Given the description of an element on the screen output the (x, y) to click on. 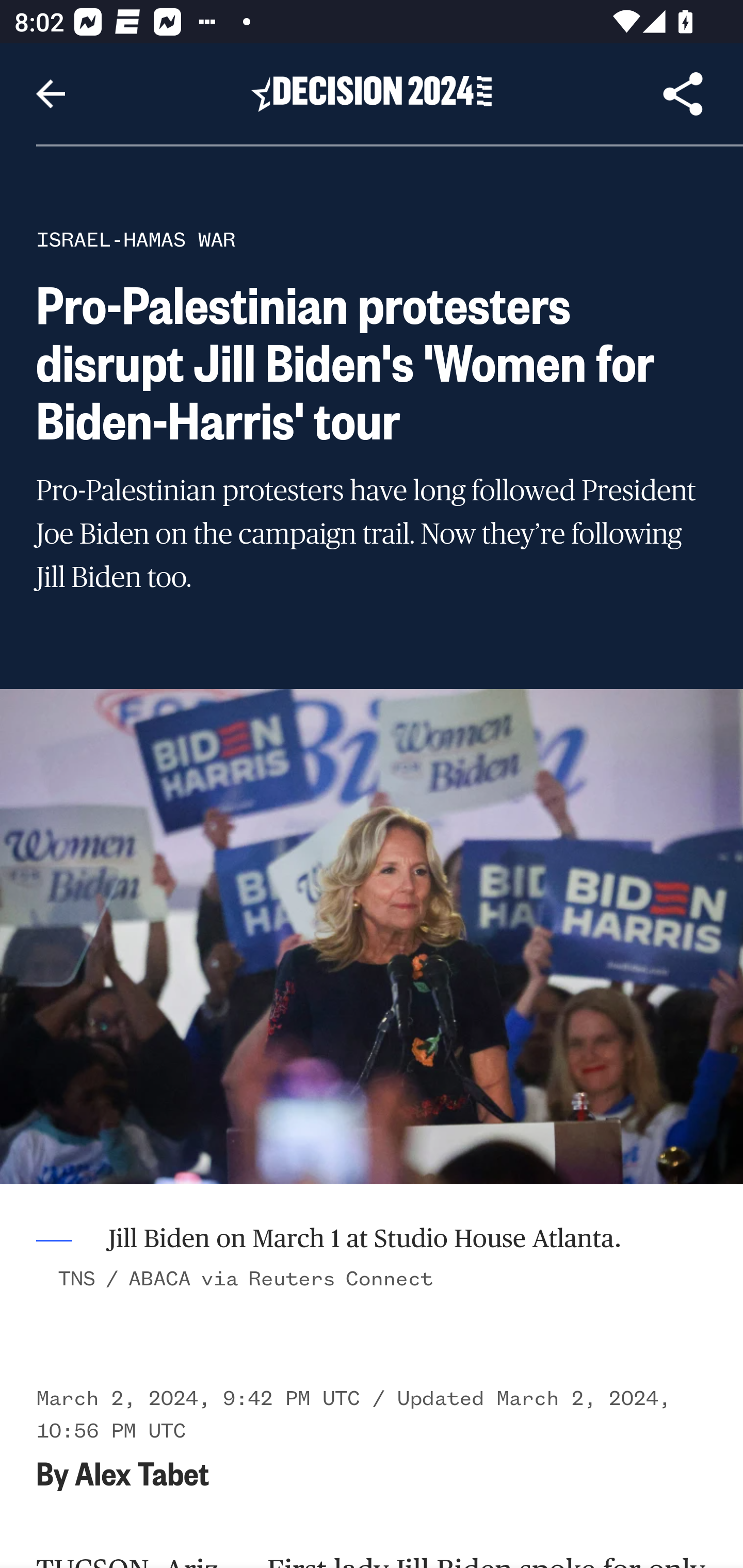
Navigate up (50, 93)
Share Article, button (683, 94)
Header, Decision 2024 (371, 93)
ISRAEL-HAMAS WAR (136, 239)
